Given the description of an element on the screen output the (x, y) to click on. 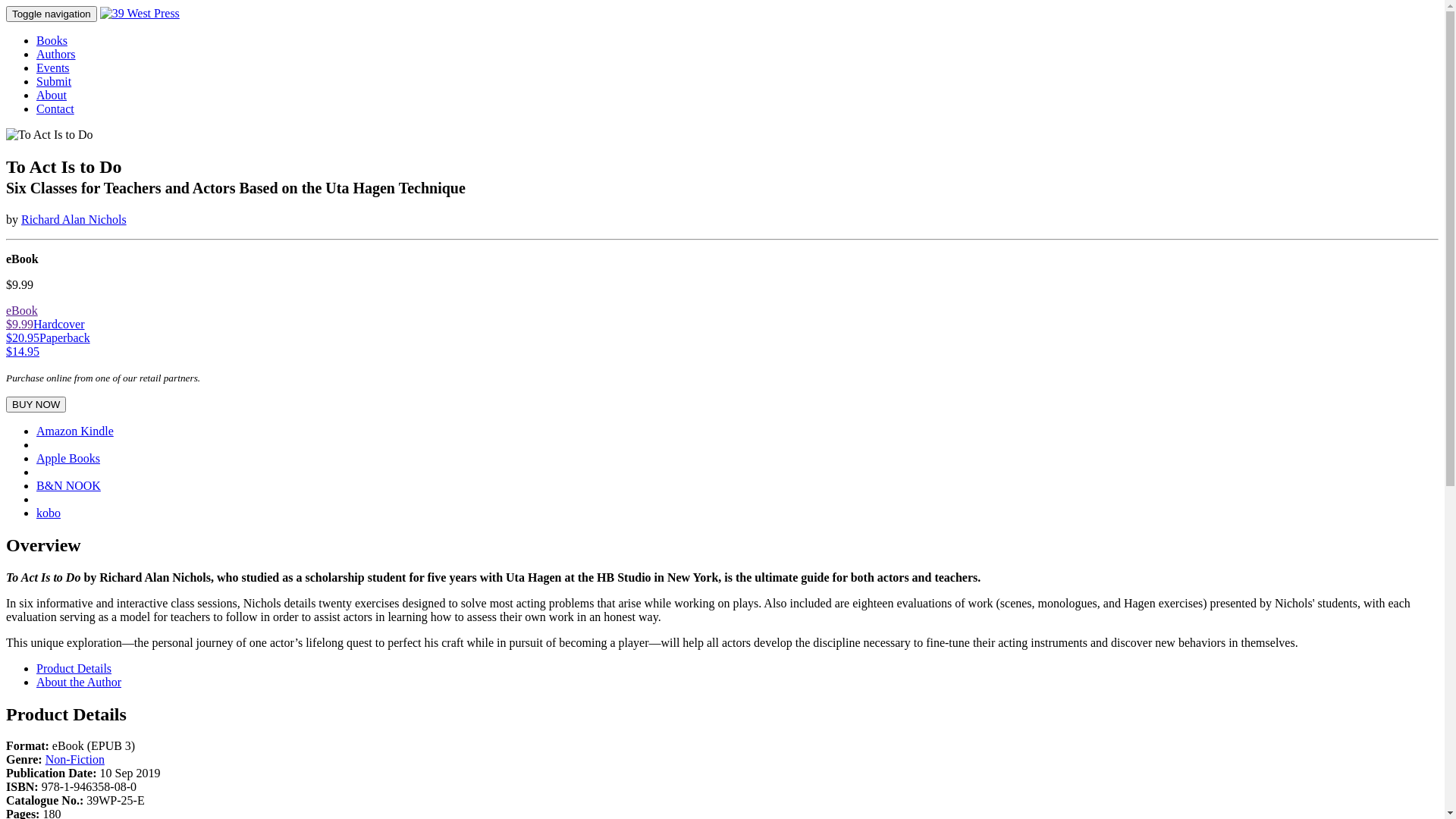
Non-Fiction Element type: text (74, 759)
About the Author Element type: text (78, 681)
B&N NOOK Element type: text (68, 485)
Product Details Element type: text (73, 668)
Toggle navigation Element type: text (51, 13)
kobo Element type: text (48, 512)
Contact Element type: text (55, 108)
Hardcover
$20.95 Element type: text (45, 330)
Submit Element type: text (53, 81)
eBook
$9.99 Element type: text (21, 317)
BUY NOW Element type: text (35, 404)
About Element type: text (51, 94)
Authors Element type: text (55, 53)
Apple Books Element type: text (68, 457)
Books Element type: text (51, 40)
Amazon Kindle Element type: text (74, 430)
Richard Alan Nichols Element type: text (73, 219)
Paperback
$14.95 Element type: text (48, 344)
Events Element type: text (52, 67)
